Given the description of an element on the screen output the (x, y) to click on. 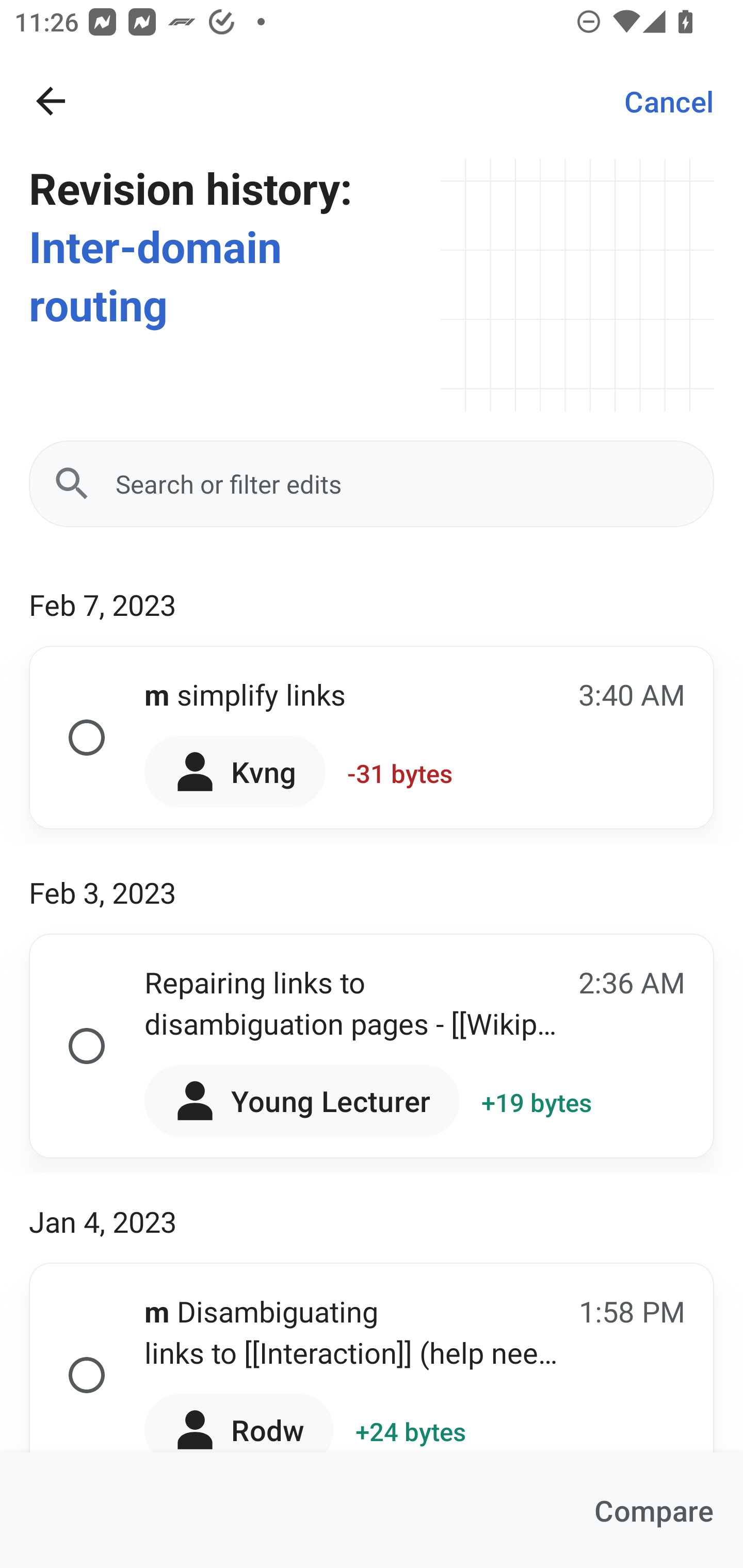
Navigate up (50, 101)
Cancel (669, 101)
Search or filter edits (371, 483)
m simplify links 3:40 AM Kvng -31 bytes (371, 737)
Kvng (234, 771)
Young Lecturer (301, 1100)
Rodw (238, 1418)
Compare (654, 1510)
